Given the description of an element on the screen output the (x, y) to click on. 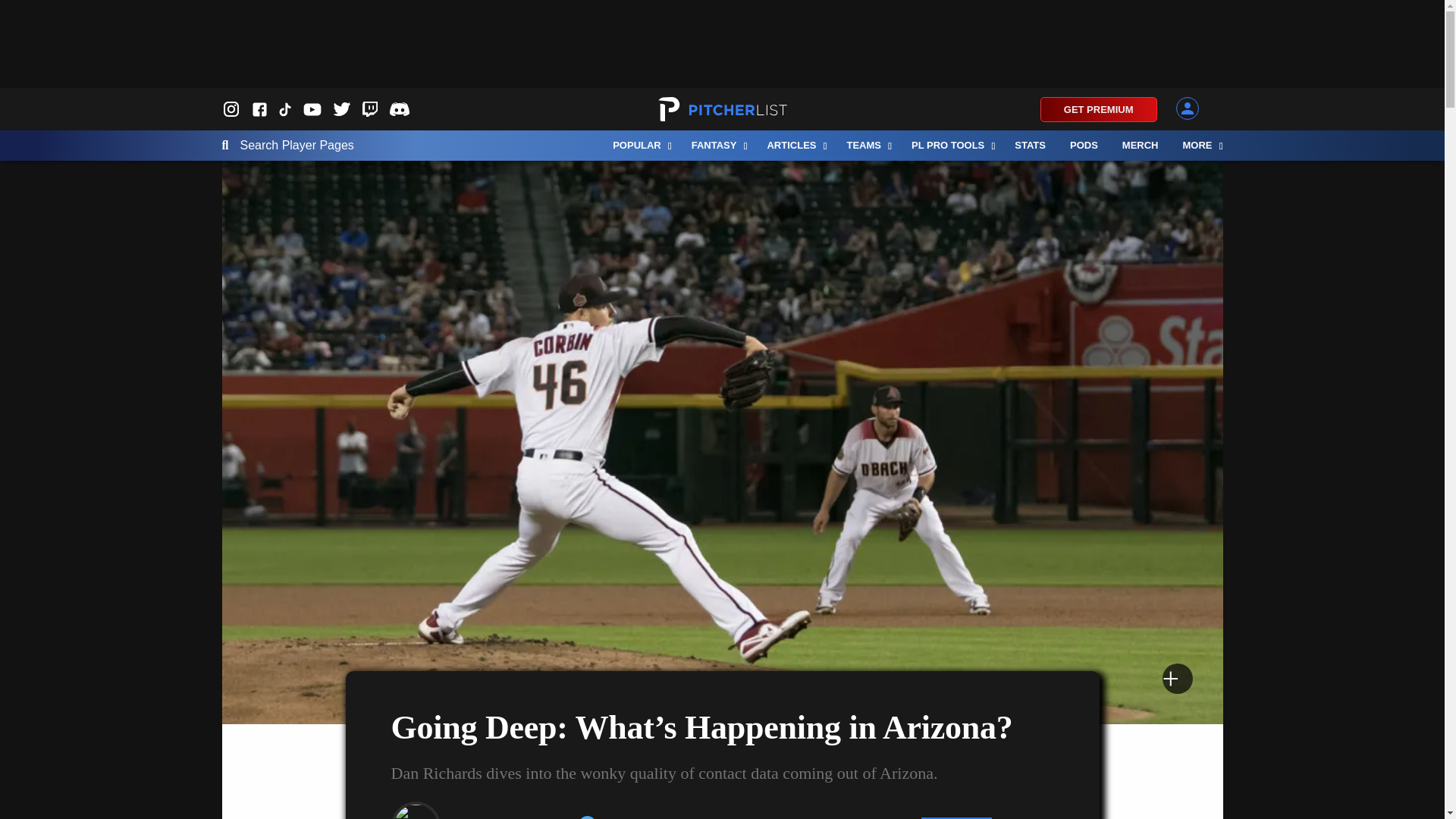
GET PREMIUM (1099, 109)
FANTASY (717, 145)
